Given the description of an element on the screen output the (x, y) to click on. 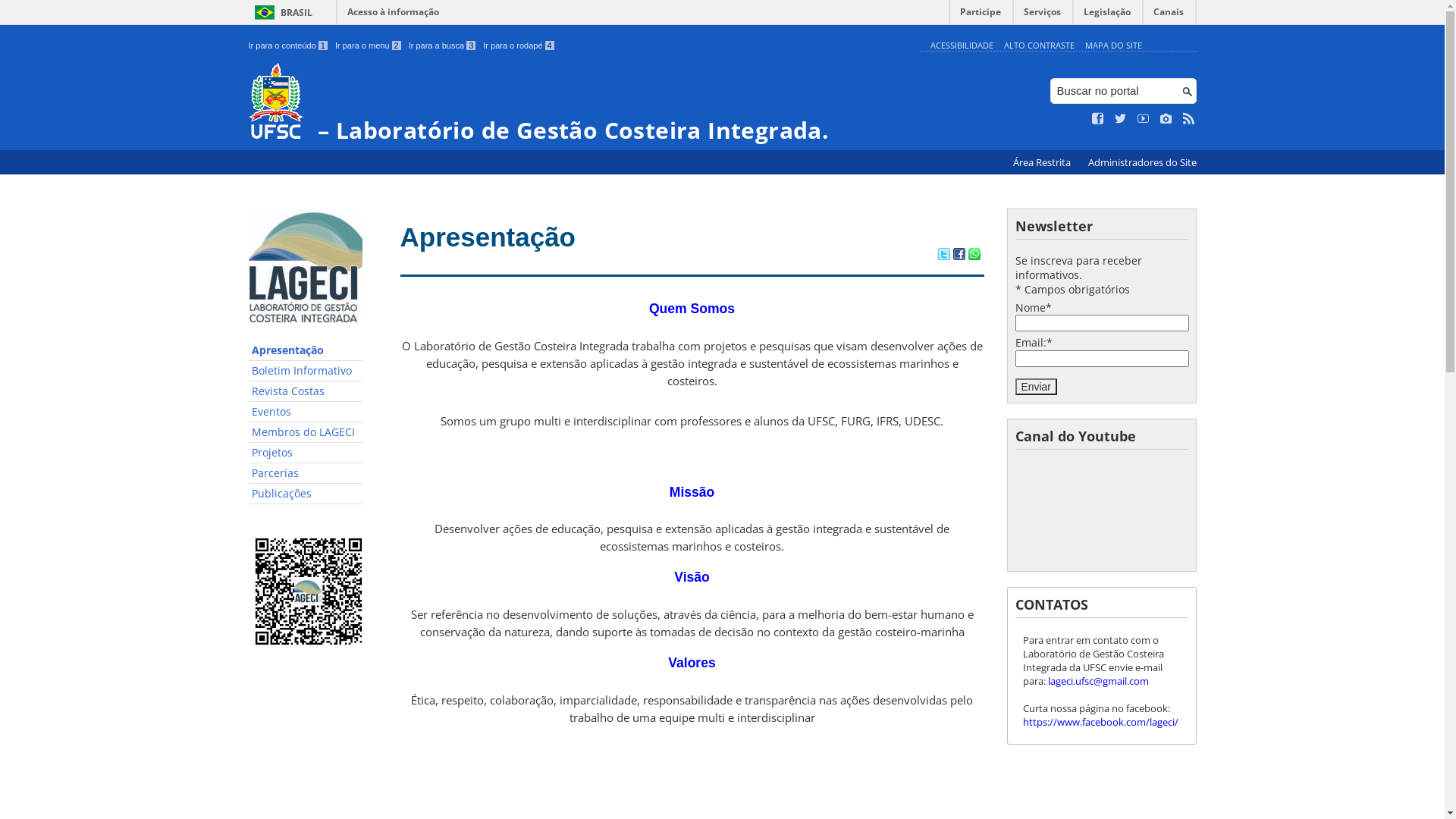
Membros do LAGECI Element type: text (305, 432)
Siga no Twitter Element type: hover (1120, 118)
Compartilhar no WhatsApp Element type: hover (973, 255)
Compartilhar no Twitter Element type: hover (943, 255)
BRASIL Element type: text (280, 12)
Compartilhar no Facebook Element type: hover (958, 255)
Participe Element type: text (980, 15)
ALTO CONTRASTE Element type: text (1039, 44)
https://www.facebook.com/lageci/ Element type: text (1099, 721)
Canais Element type: text (1169, 15)
Curta no Facebook Element type: hover (1098, 118)
Eventos Element type: text (305, 411)
Projetos Element type: text (305, 452)
ACESSIBILIDADE Element type: text (960, 44)
Revista Costas Element type: text (305, 391)
Ir para a busca 3 Element type: text (442, 45)
Administradores do Site Element type: text (1141, 162)
Parcerias Element type: text (305, 473)
Enviar Element type: text (1035, 386)
Ir para o menu 2 Element type: text (368, 45)
lageci.ufsc@gmail.com Element type: text (1098, 680)
Veja no Instagram Element type: hover (1166, 118)
MAPA DO SITE Element type: text (1112, 44)
Boletim Informativo Element type: text (305, 370)
